Given the description of an element on the screen output the (x, y) to click on. 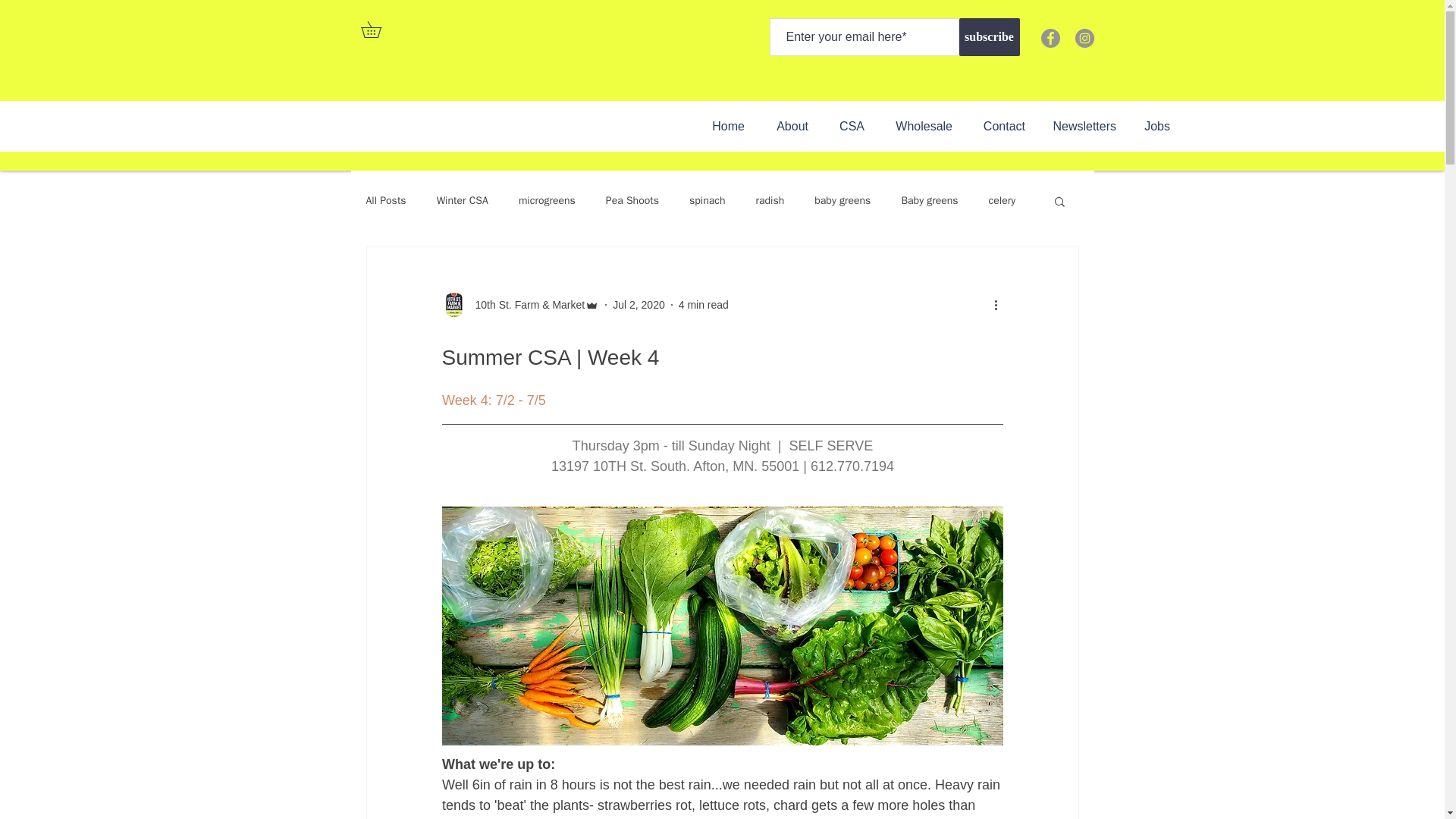
CSA (847, 126)
Jobs (1153, 126)
spinach (706, 201)
radish (769, 201)
microgreens (546, 201)
celery (1002, 201)
About (787, 126)
Winter CSA (461, 201)
Baby greens (929, 201)
Contact (999, 126)
